Given the description of an element on the screen output the (x, y) to click on. 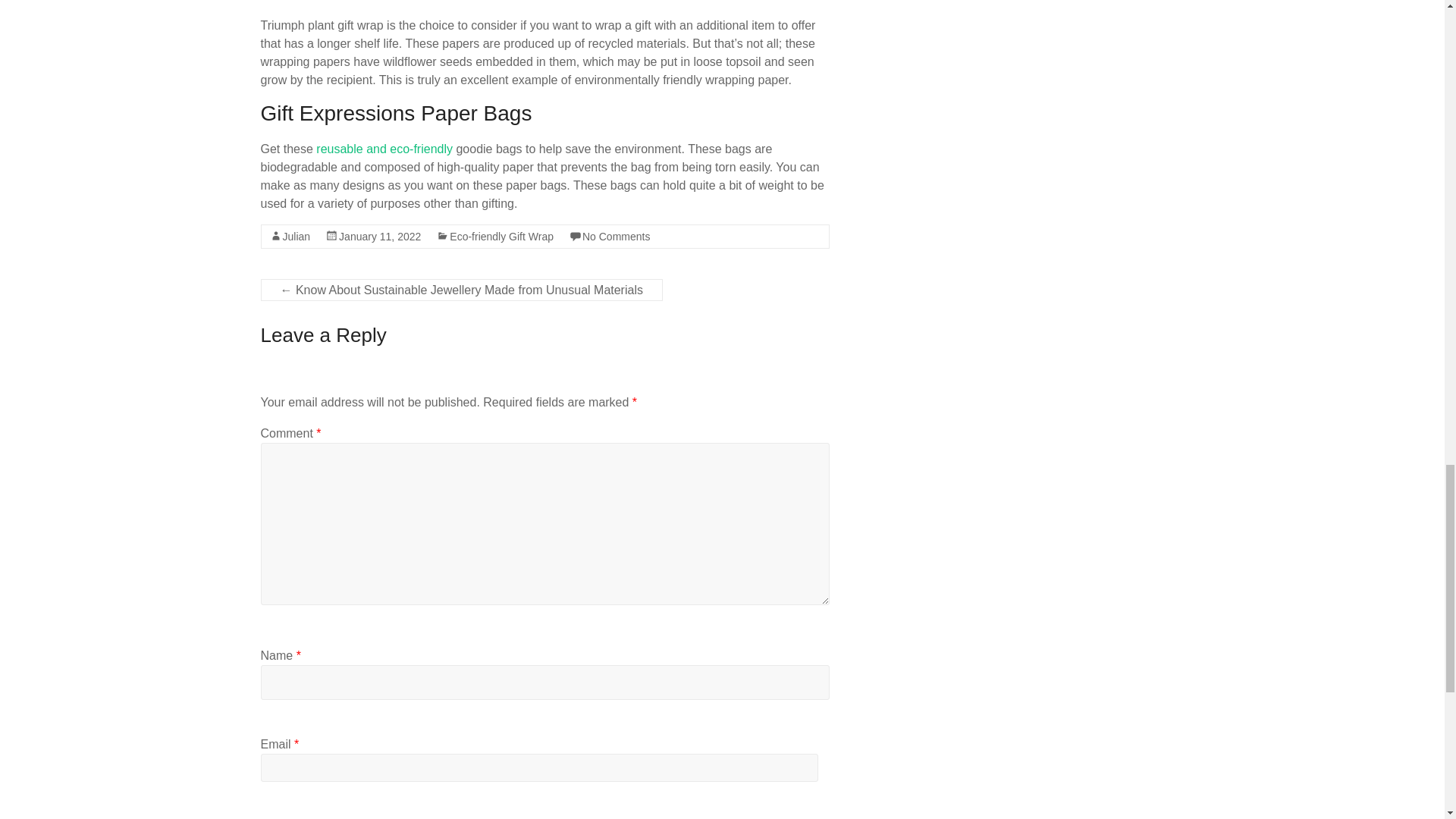
Eco-friendly Gift Wrap (501, 236)
Julian (296, 236)
1:20 pm (379, 236)
reusable and eco-friendly (382, 148)
No Comments (615, 236)
January 11, 2022 (379, 236)
